Given the description of an element on the screen output the (x, y) to click on. 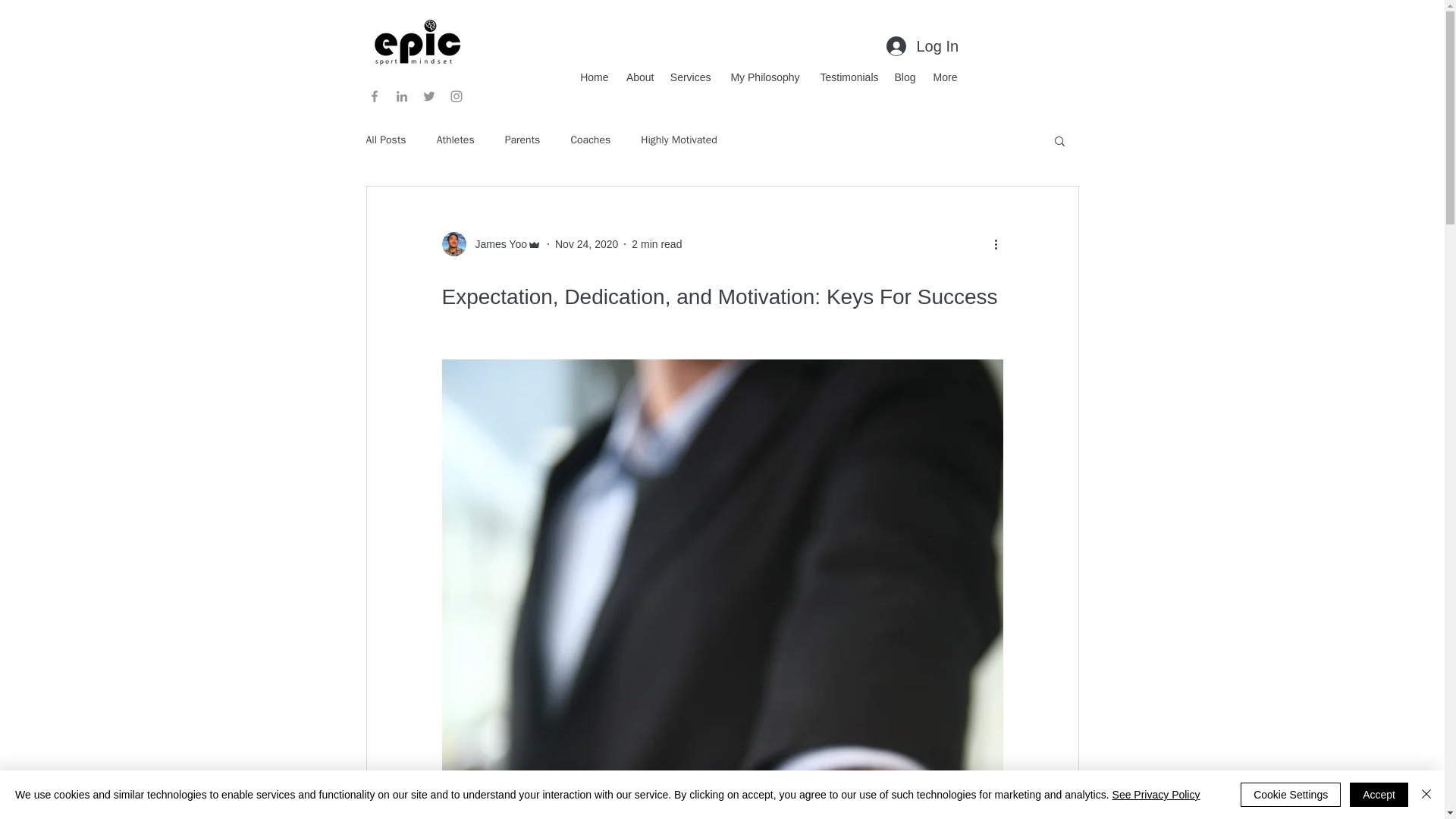
Coaches (590, 140)
Parents (522, 140)
Services (689, 77)
James Yoo (491, 243)
My Philosophy (763, 77)
2 min read (656, 244)
Log In (920, 46)
Highly Motivated (678, 140)
Nov 24, 2020 (585, 244)
Testimonials (845, 77)
